Given the description of an element on the screen output the (x, y) to click on. 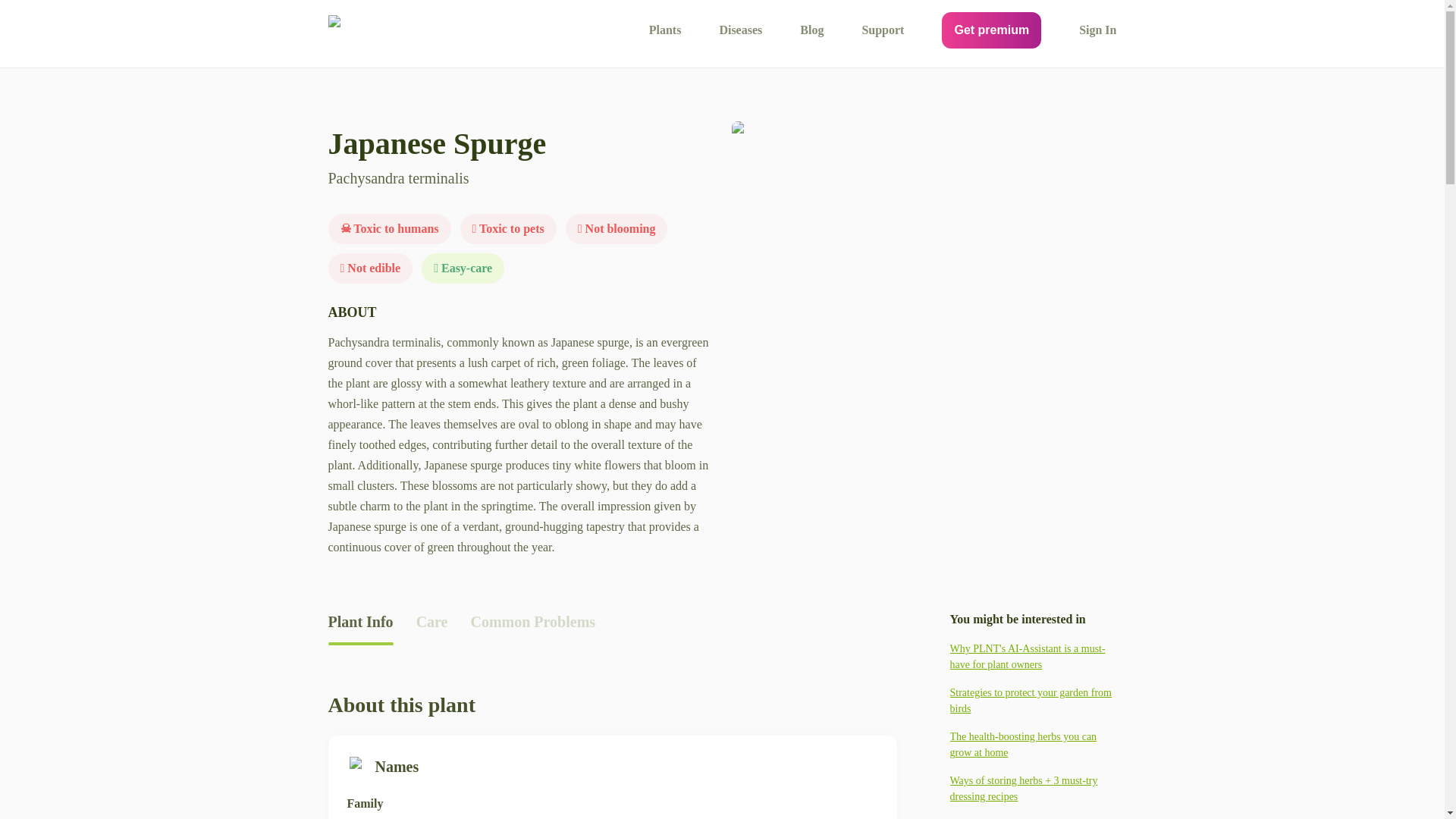
Get premium (991, 30)
Why PLNT's AI-Assistant is a must-have for plant owners (1032, 656)
Strategies to protect your garden from birds (1032, 700)
Blog (811, 30)
Plants (665, 30)
Avoid these mistakes if you want your orchid to flower (1032, 817)
Sign In (1097, 30)
The health-boosting herbs you can grow at home (1032, 744)
Support (882, 30)
Diseases (740, 30)
